Given the description of an element on the screen output the (x, y) to click on. 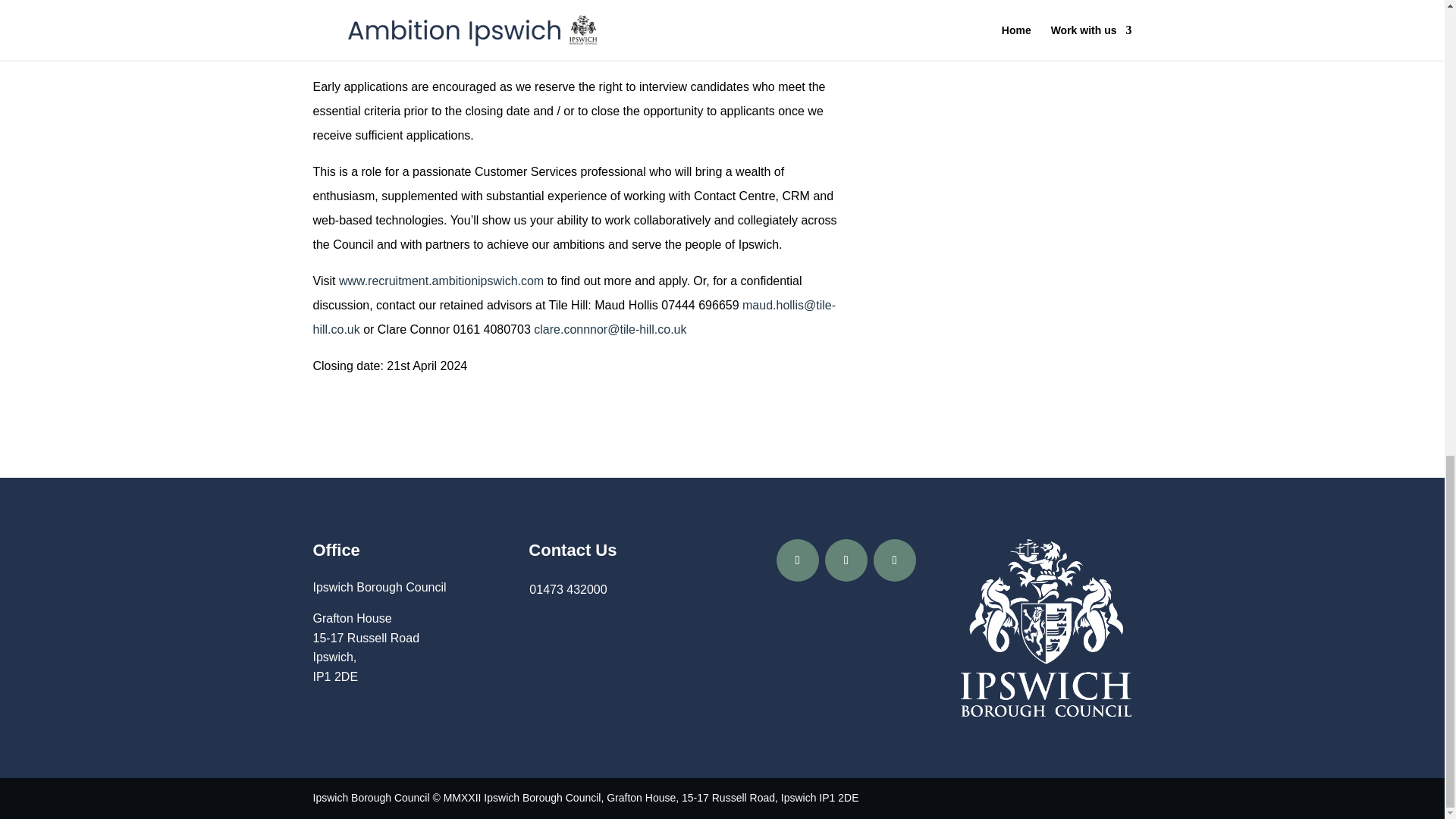
Follow on Facebook (797, 559)
Follow on Twitter (846, 559)
IBC-WHITE (1045, 627)
Follow on LinkedIn (894, 559)
www.recruitment.ambitionipswich.com (441, 280)
